Given the description of an element on the screen output the (x, y) to click on. 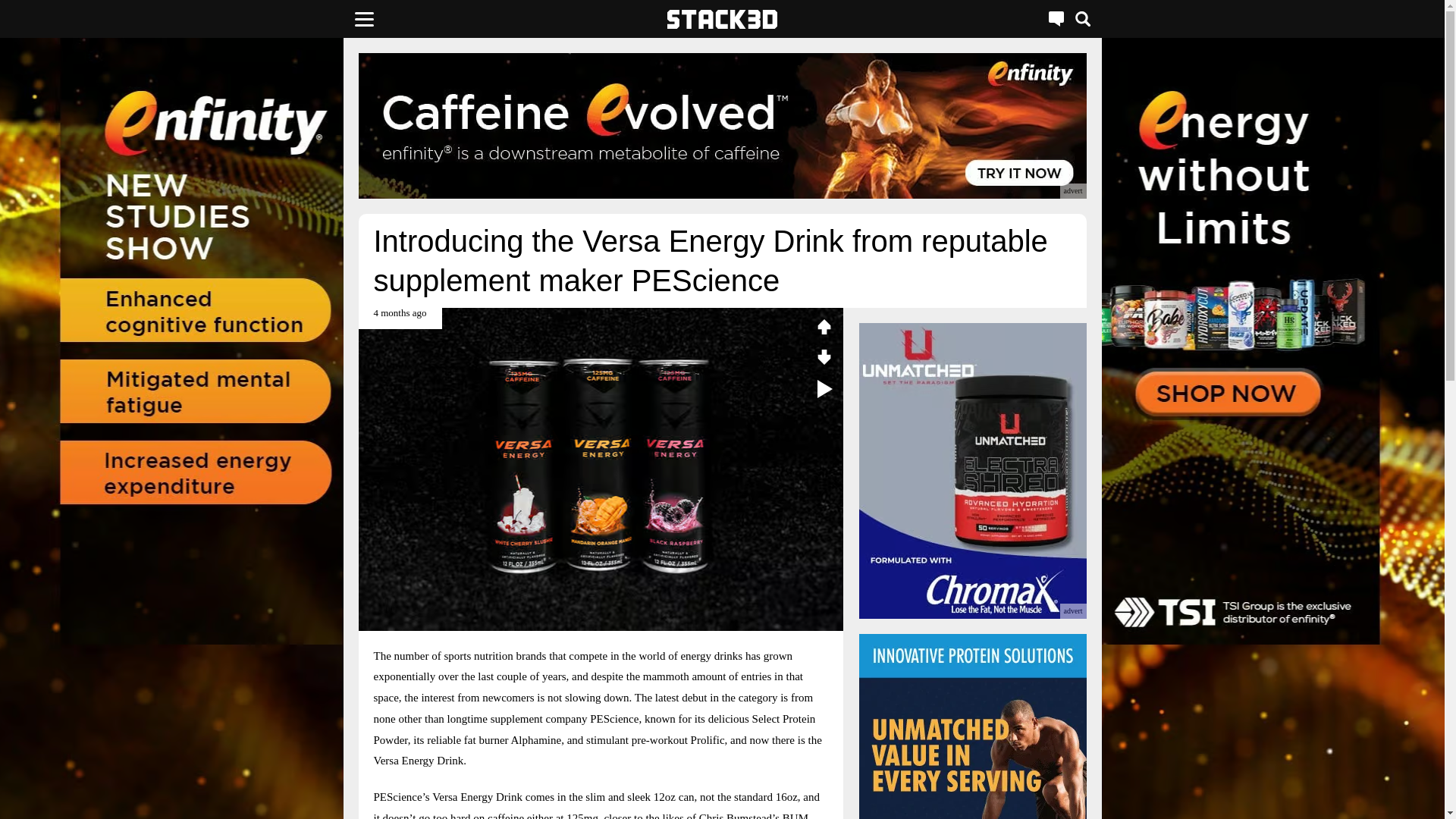
March 20th 2024 (399, 318)
